Given the description of an element on the screen output the (x, y) to click on. 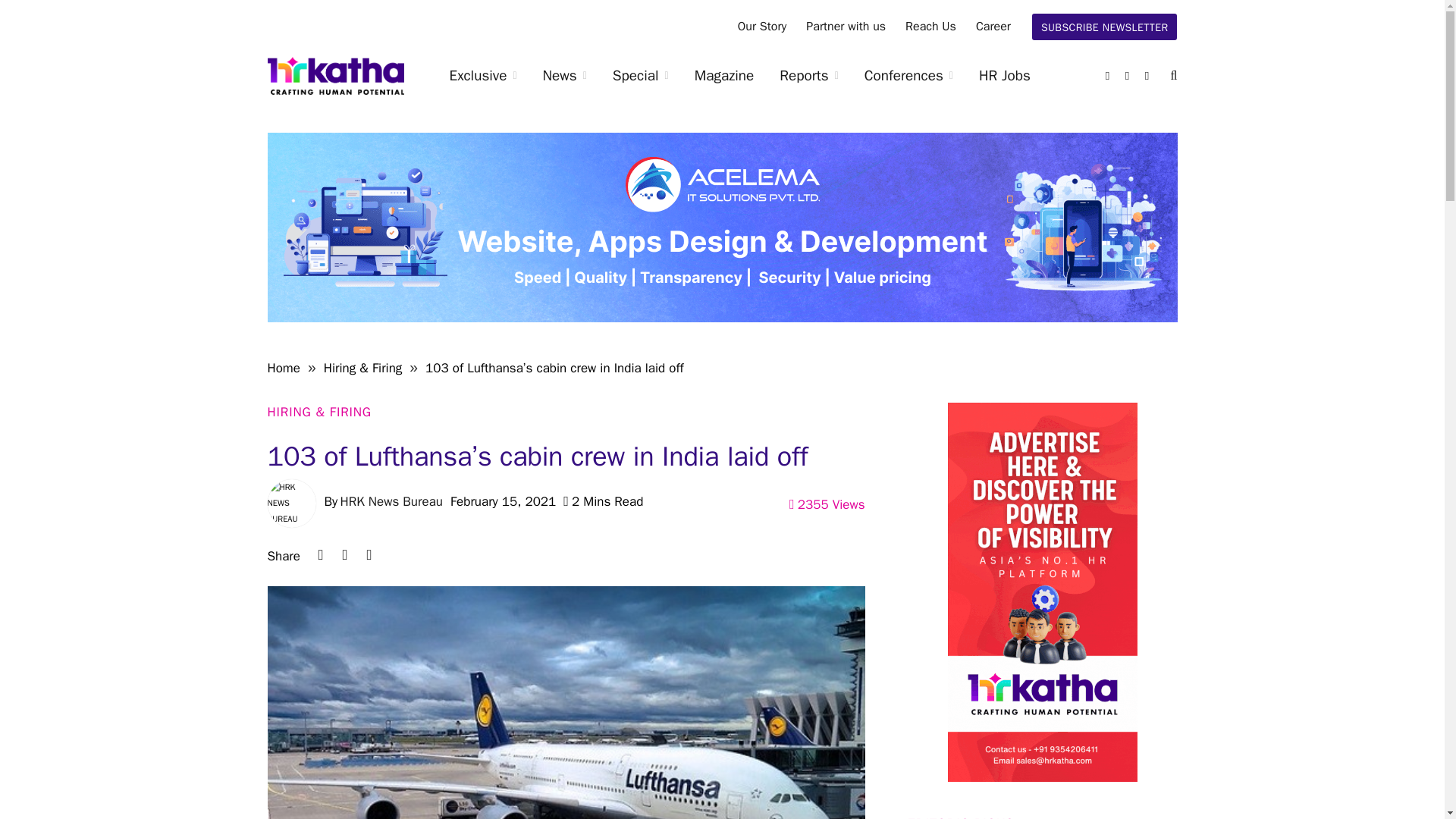
Posts by HRK News Bureau (390, 501)
Our Story (762, 26)
SUBSCRIBE NEWSLETTER (1104, 26)
Career (993, 26)
Exclusive (482, 75)
Partner with us (845, 26)
Share on Facebook (369, 554)
HR Katha (334, 76)
Share on LinkedIn (319, 554)
Special (640, 75)
News (564, 75)
Reach Us (930, 26)
